Given the description of an element on the screen output the (x, y) to click on. 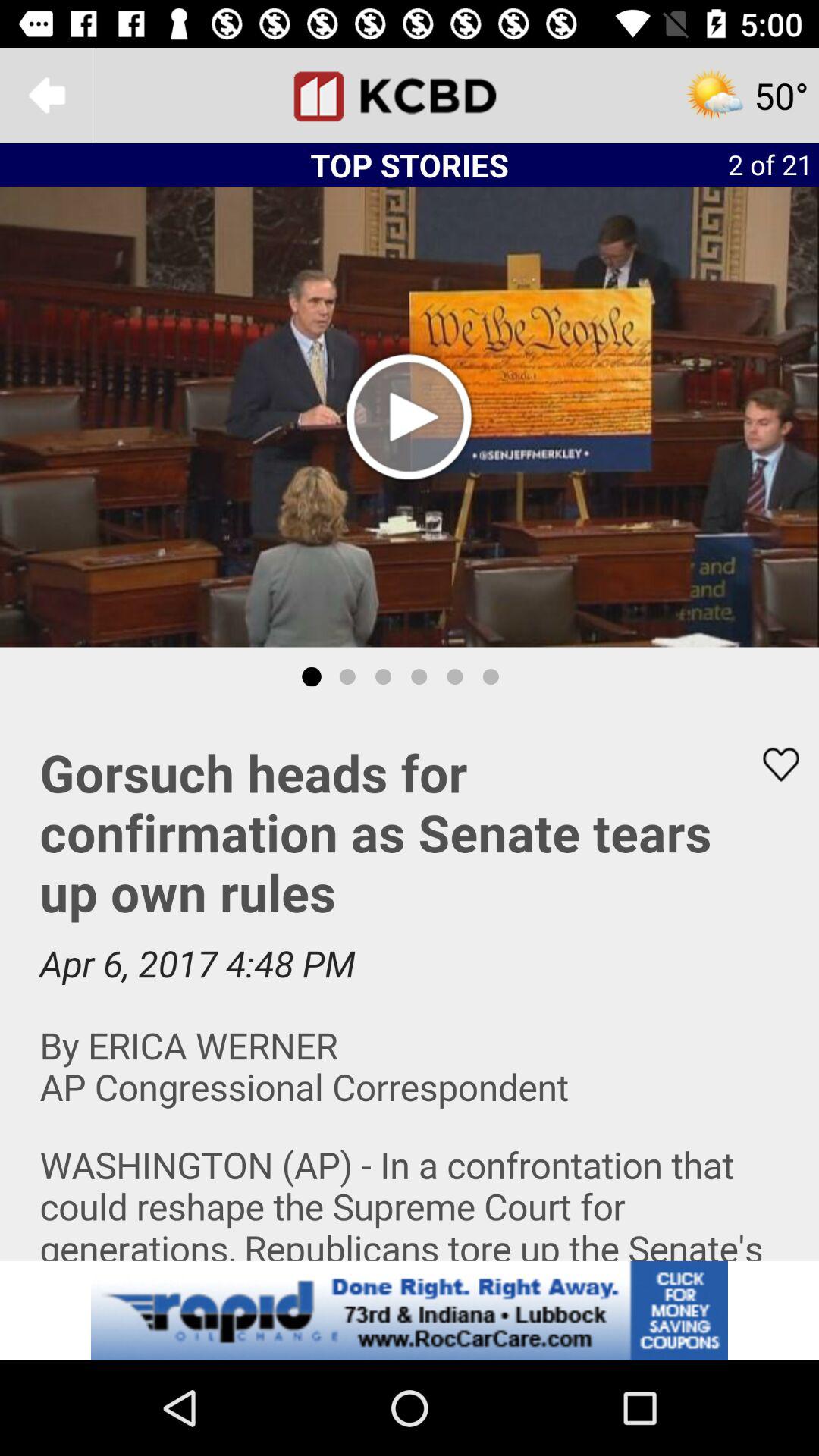
like article (771, 764)
